Given the description of an element on the screen output the (x, y) to click on. 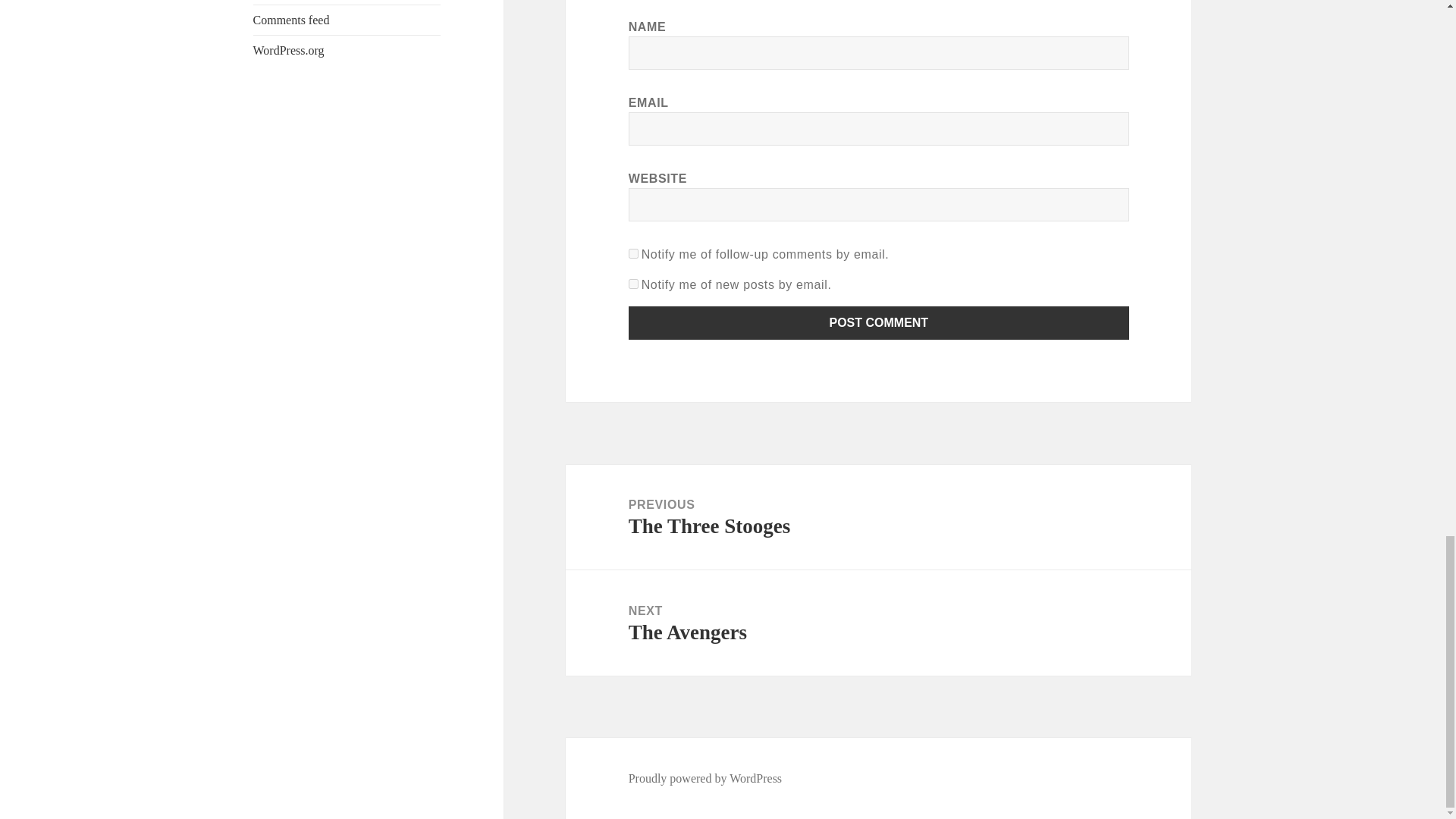
subscribe (633, 284)
Comments feed (291, 19)
WordPress.org (288, 50)
subscribe (633, 253)
Post Comment (878, 322)
